Given the description of an element on the screen output the (x, y) to click on. 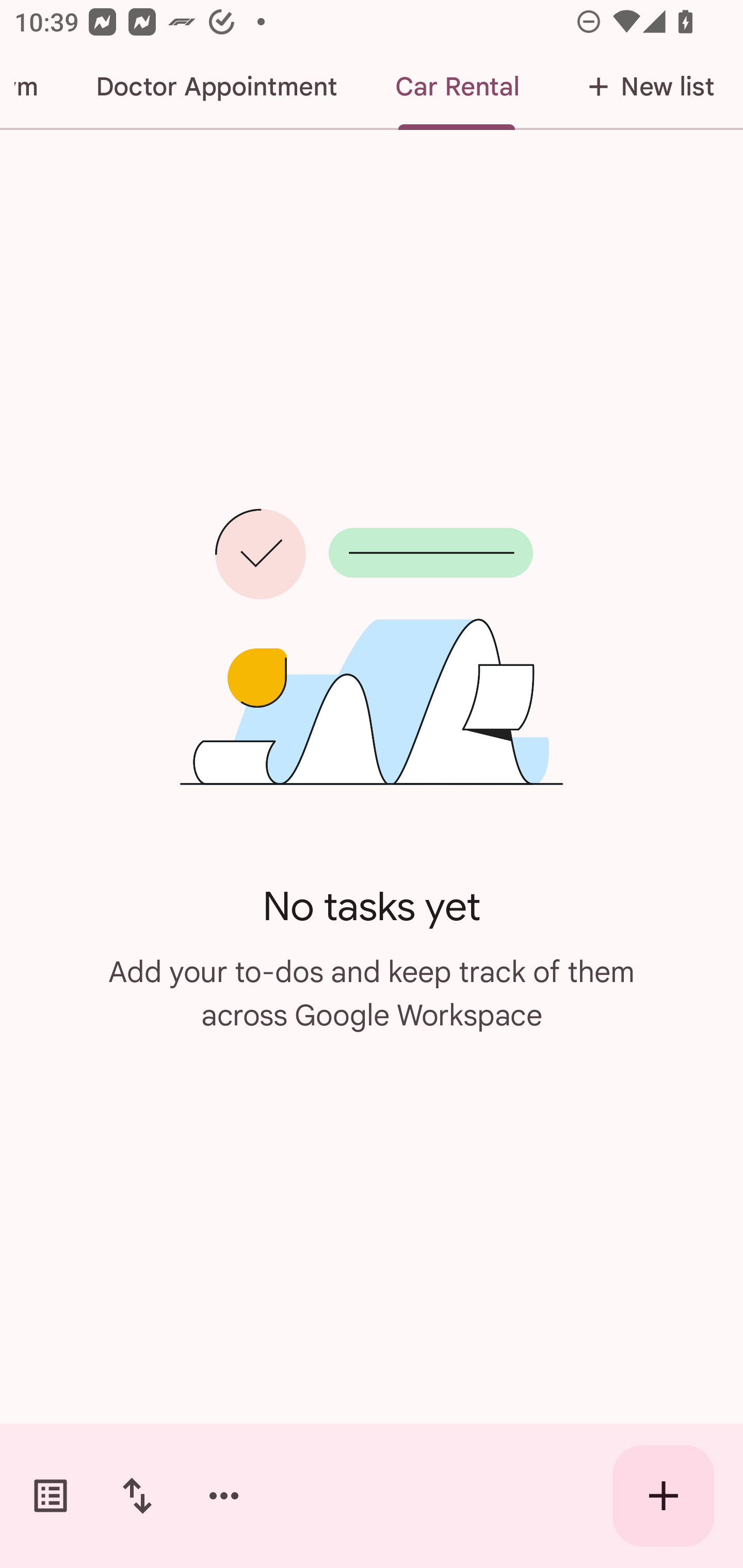
Doctor Appointment (215, 86)
New list (645, 86)
Switch task lists (50, 1495)
Create new task (663, 1495)
Change sort order (136, 1495)
More options (223, 1495)
